Given the description of an element on the screen output the (x, y) to click on. 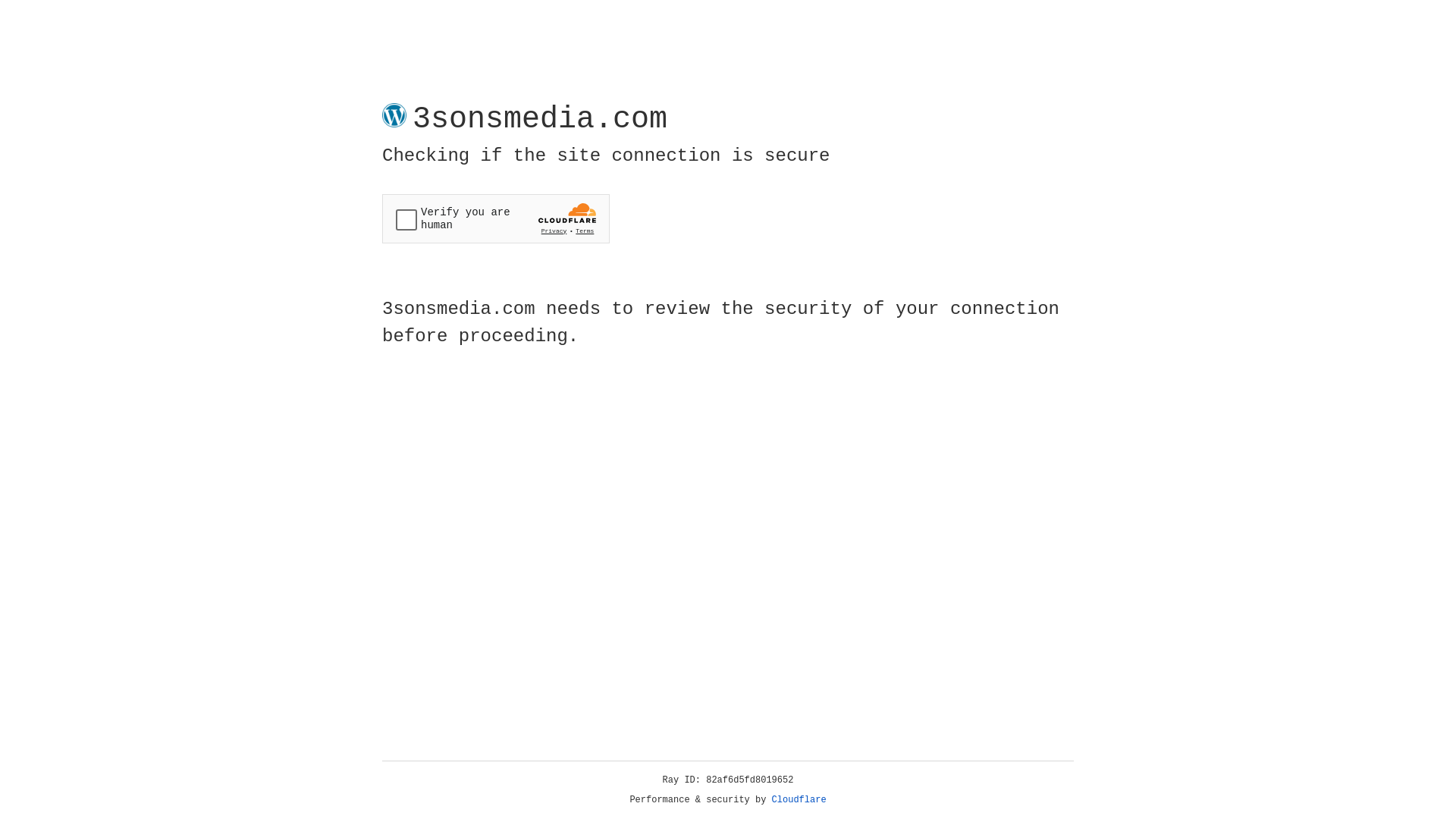
Cloudflare Element type: text (798, 799)
Widget containing a Cloudflare security challenge Element type: hover (495, 218)
